Given the description of an element on the screen output the (x, y) to click on. 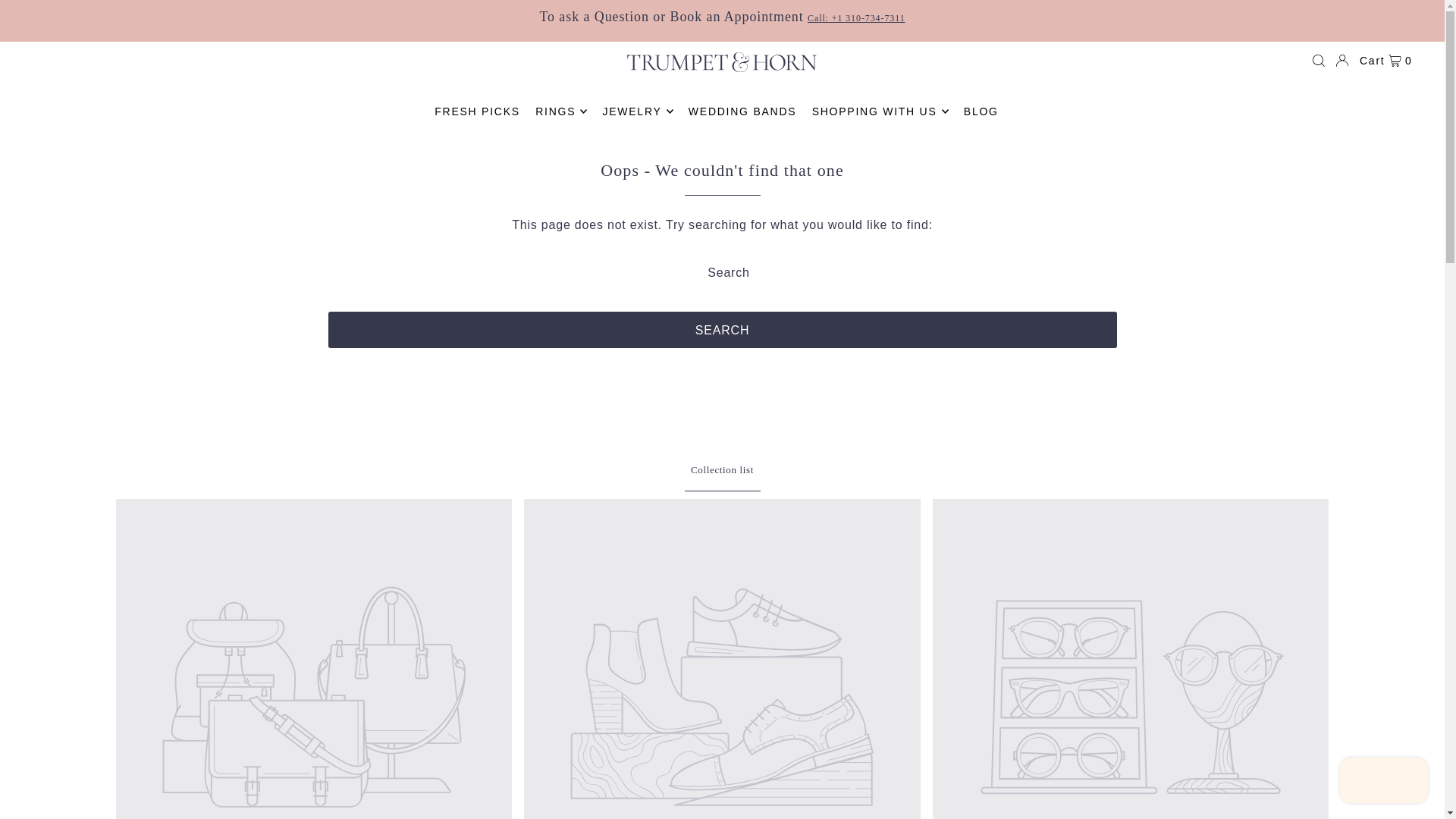
Cart (1385, 60)
Collection image (722, 658)
RINGS (560, 111)
FRESH PICKS (476, 111)
Collection image (1131, 658)
Collection image (313, 658)
Search (721, 330)
